Given the description of an element on the screen output the (x, y) to click on. 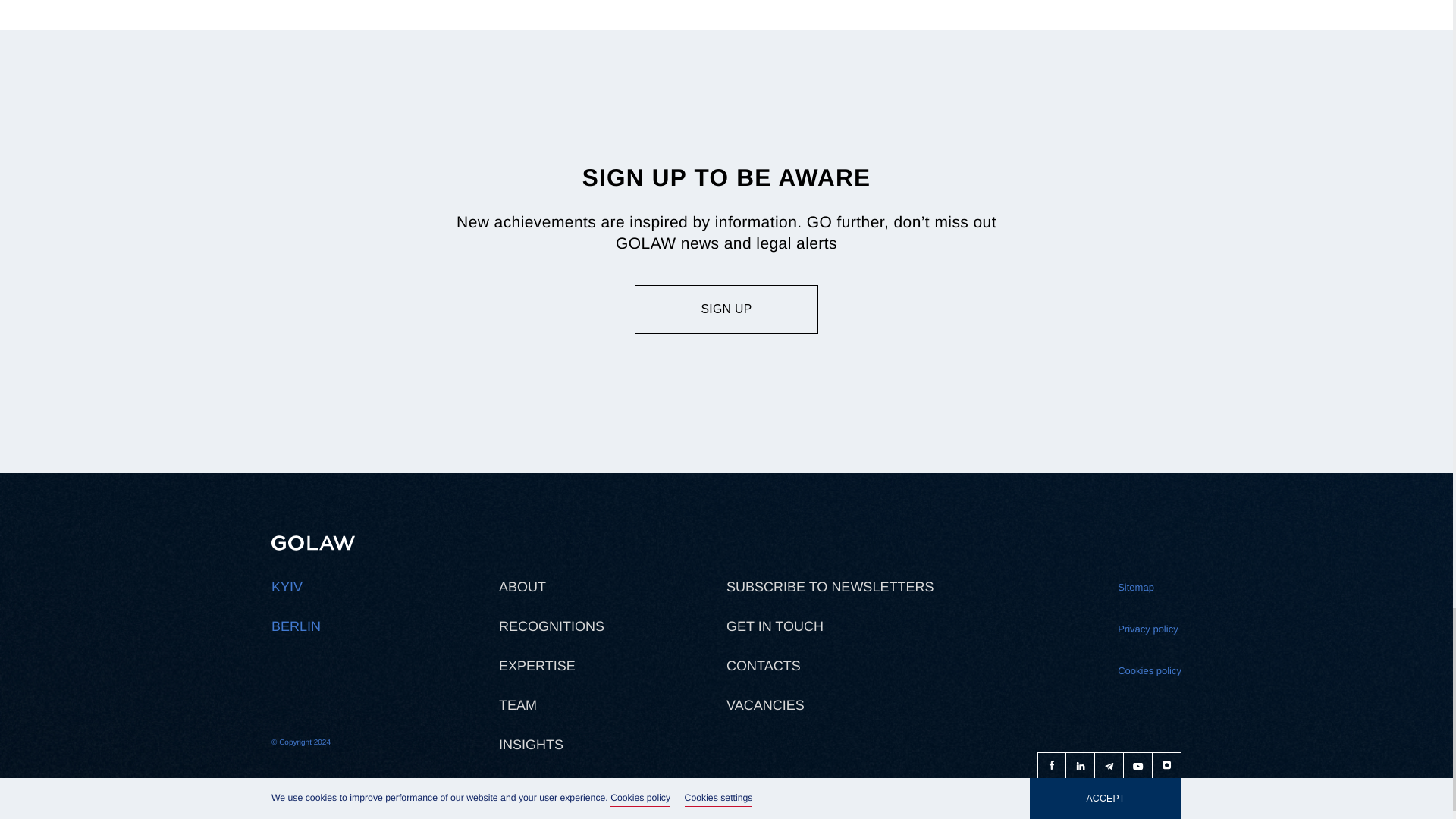
SIGN UP (726, 309)
